Given the description of an element on the screen output the (x, y) to click on. 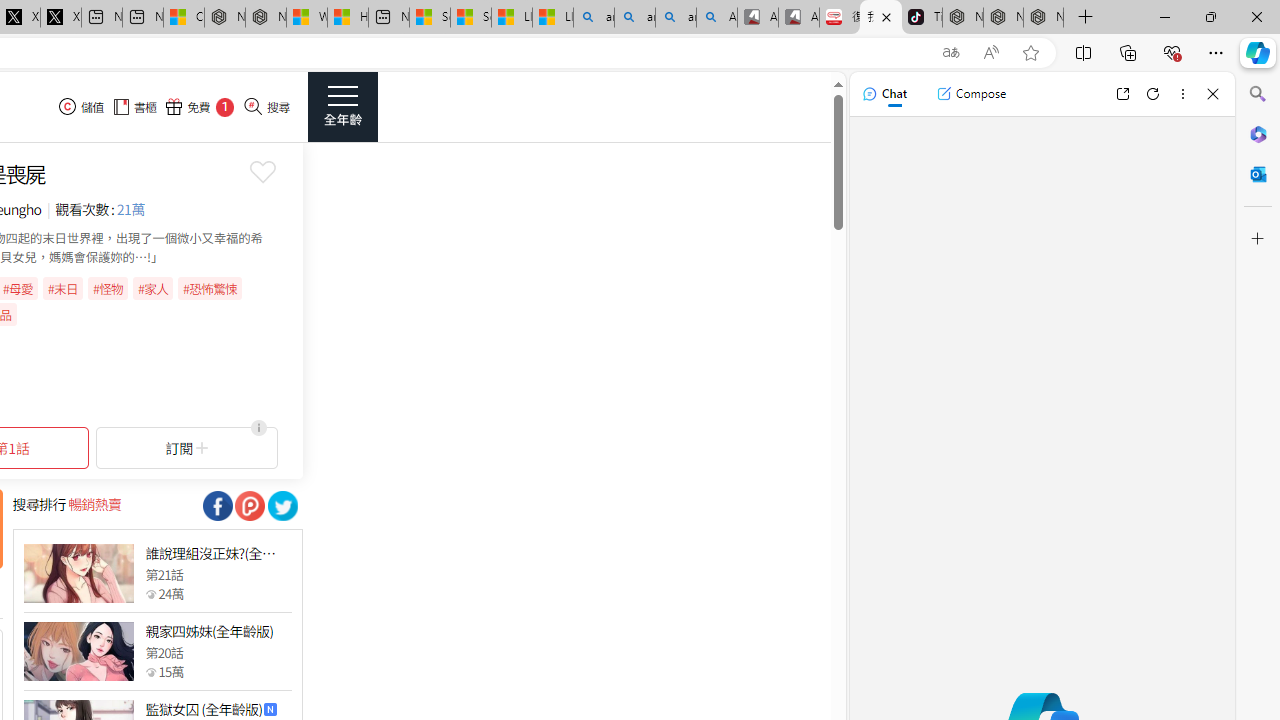
Read aloud this page (Ctrl+Shift+U) (991, 53)
Class: thumb_img (78, 651)
